Given the description of an element on the screen output the (x, y) to click on. 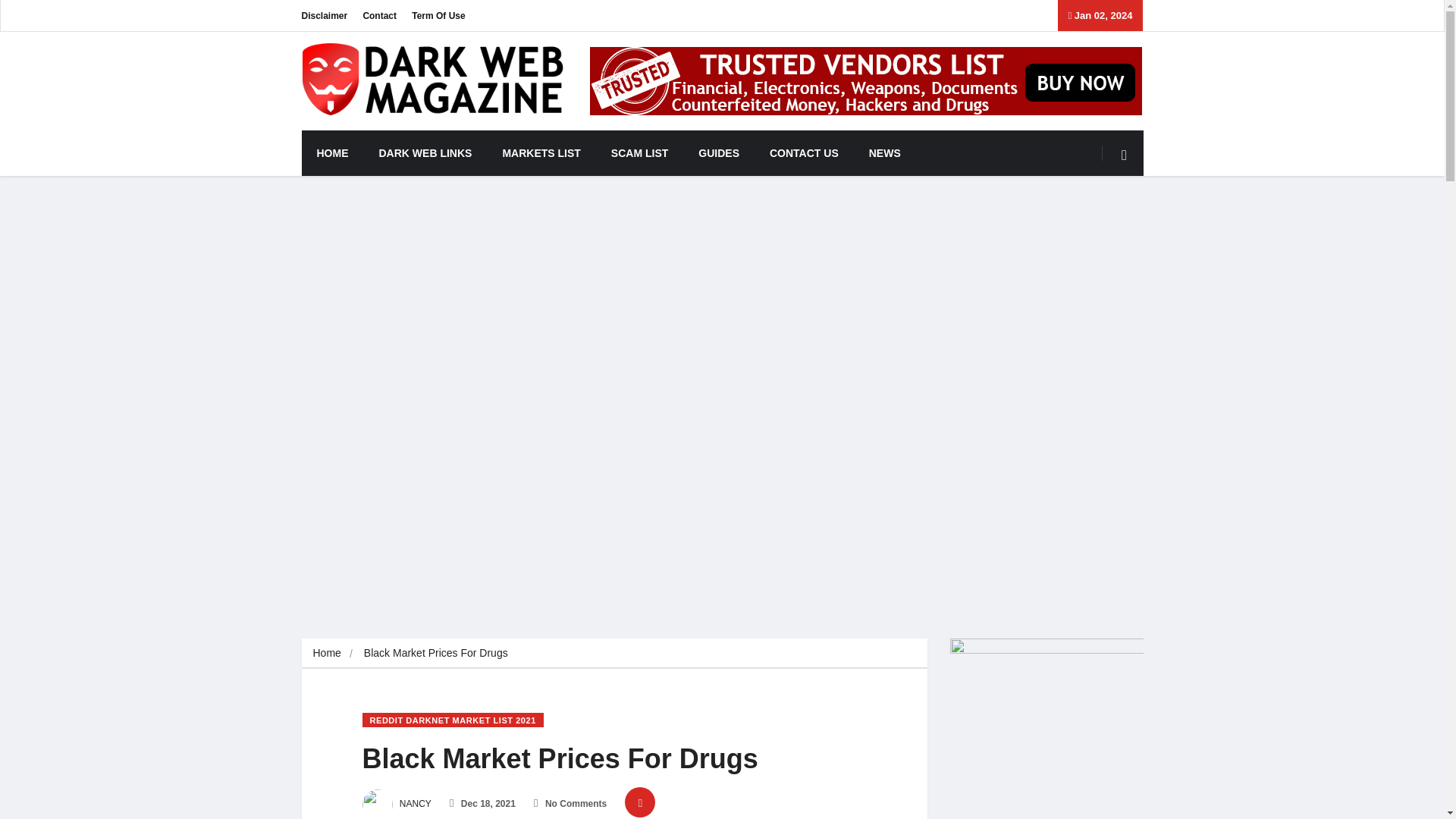
SCAM LIST (638, 153)
GUIDES (718, 153)
HOME (332, 153)
REDDIT DARKNET MARKET LIST 2021 (452, 719)
NEWS (884, 153)
Home (326, 653)
Contact (379, 15)
Term Of Use (438, 15)
Disclaimer (324, 15)
NANCY (396, 803)
